Given the description of an element on the screen output the (x, y) to click on. 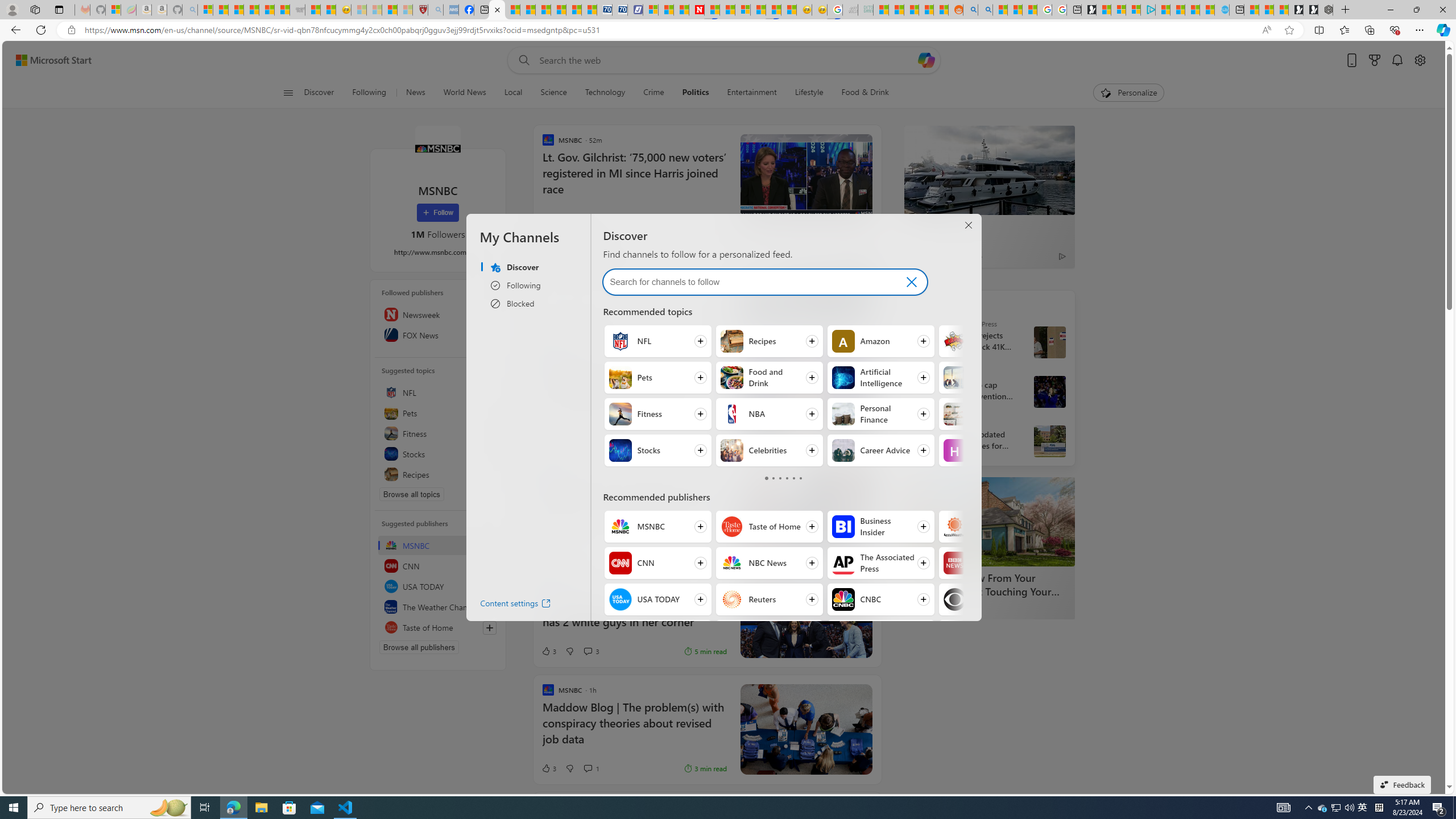
FOX News (437, 334)
Follow Recipes (768, 341)
Food and Drink (732, 377)
NBA (732, 413)
http://www.msnbc.com/ (438, 251)
View comments 3 Comment (591, 650)
USA TODAY (437, 586)
Ad (551, 318)
DITOGAMES AG Imprint - Sleeping (865, 9)
NCL Adult Asthma Inhaler Choice Guideline - Sleeping (450, 9)
